Given the description of an element on the screen output the (x, y) to click on. 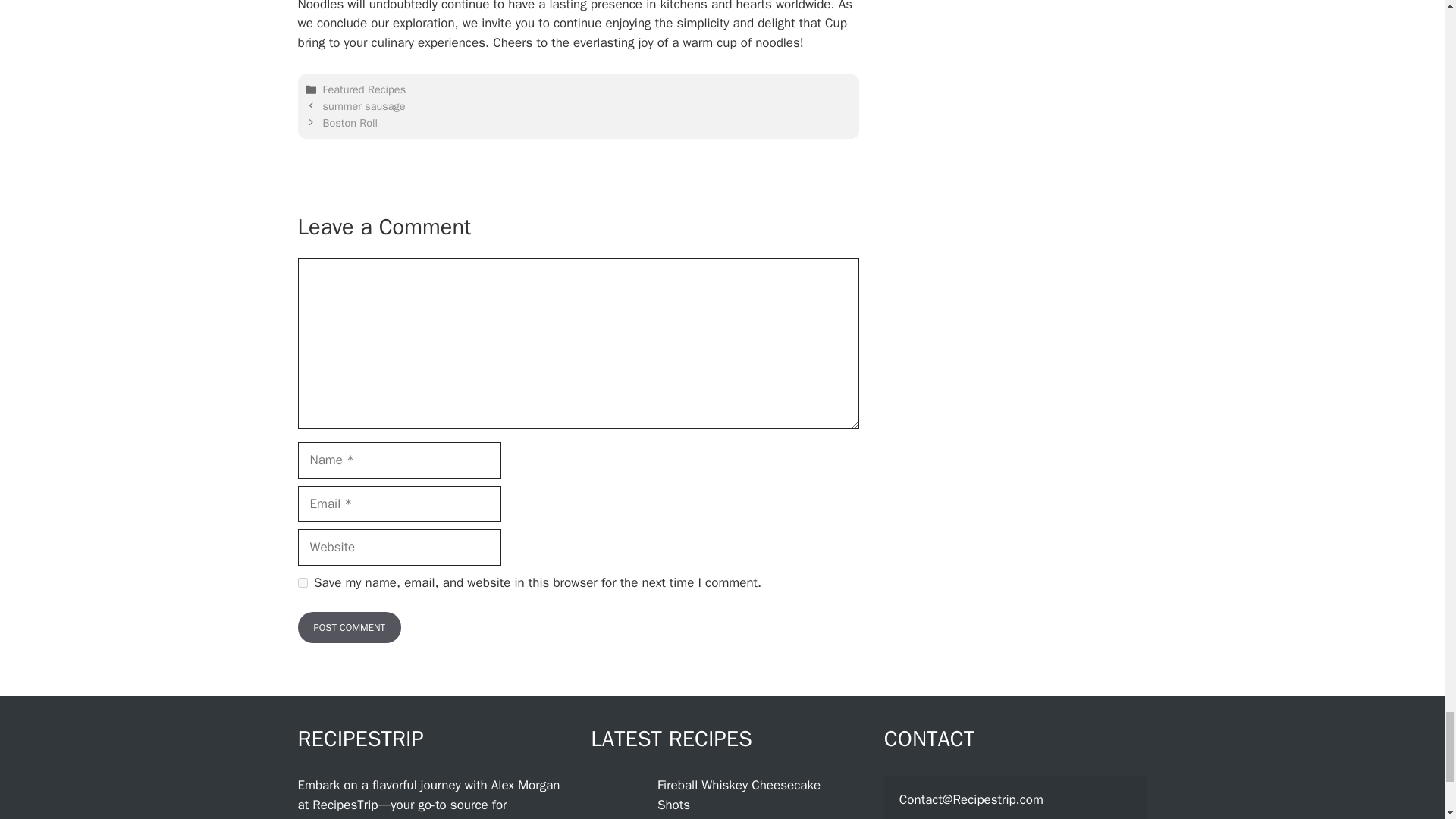
Post Comment (349, 627)
summer sausage (364, 106)
yes (302, 583)
Featured Recipes (364, 89)
Post Comment (349, 627)
Boston Roll (350, 121)
